Given the description of an element on the screen output the (x, y) to click on. 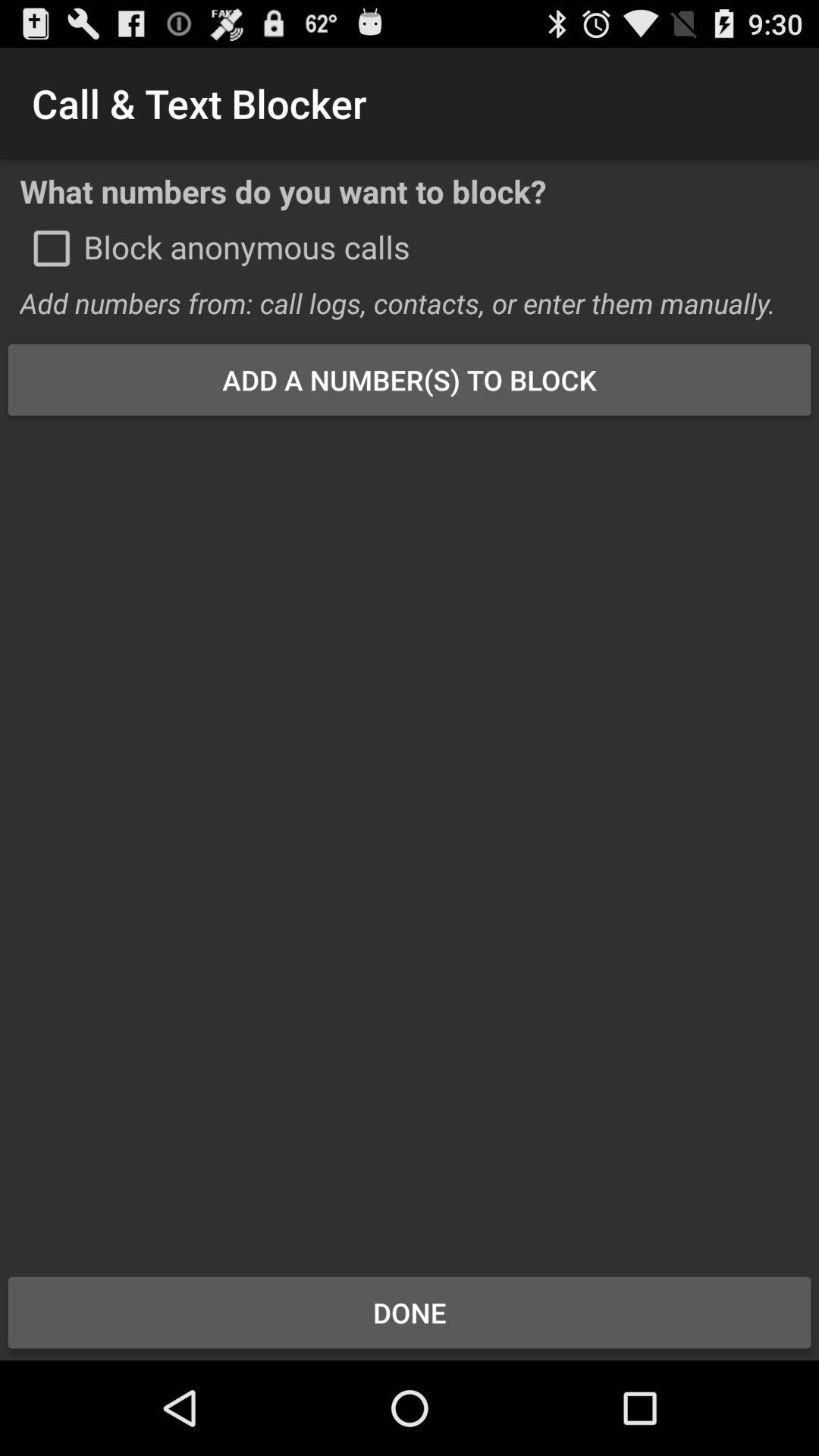
select this option (51, 248)
